Given the description of an element on the screen output the (x, y) to click on. 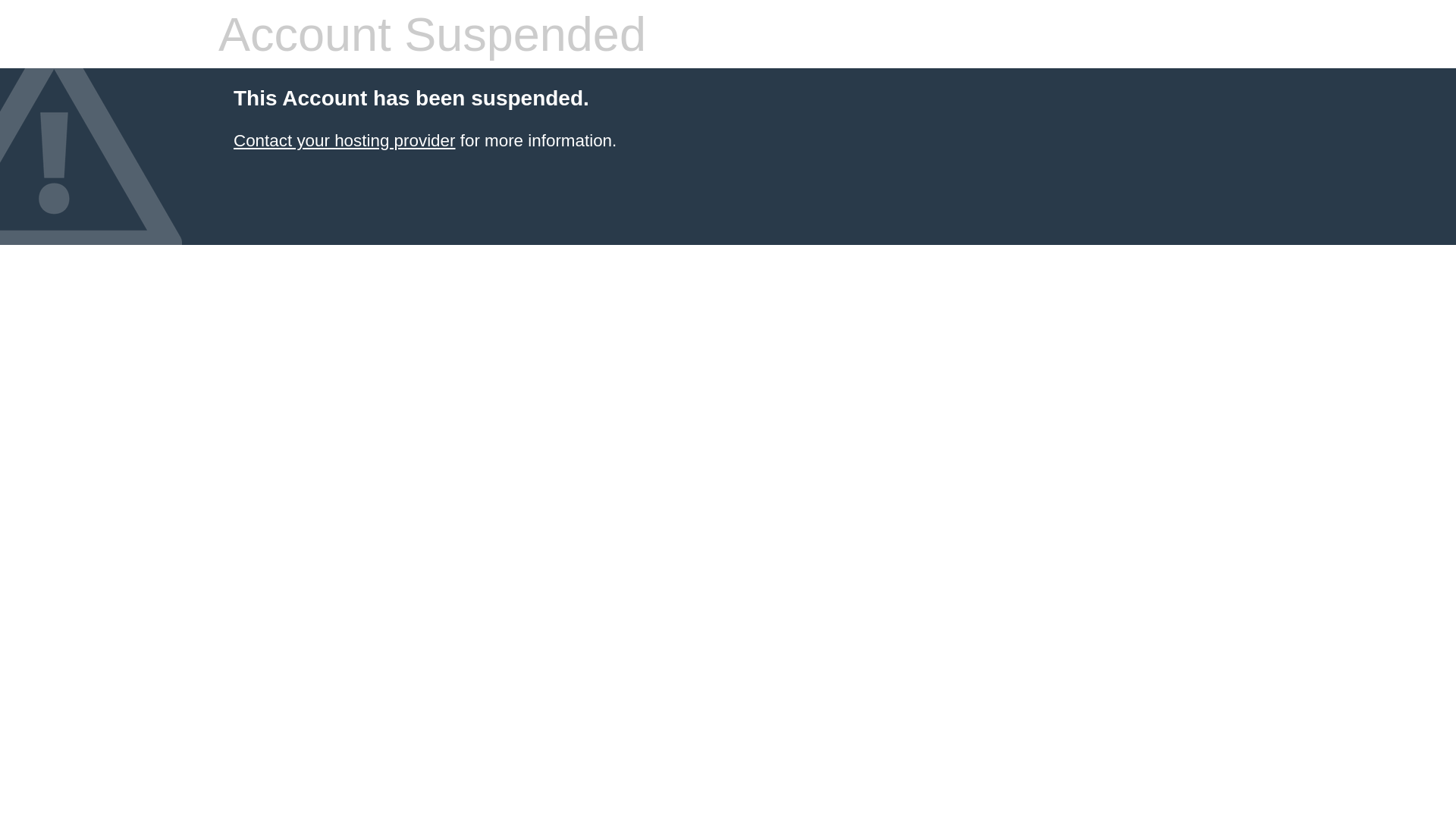
Contact your hosting provider Element type: text (344, 140)
